Given the description of an element on the screen output the (x, y) to click on. 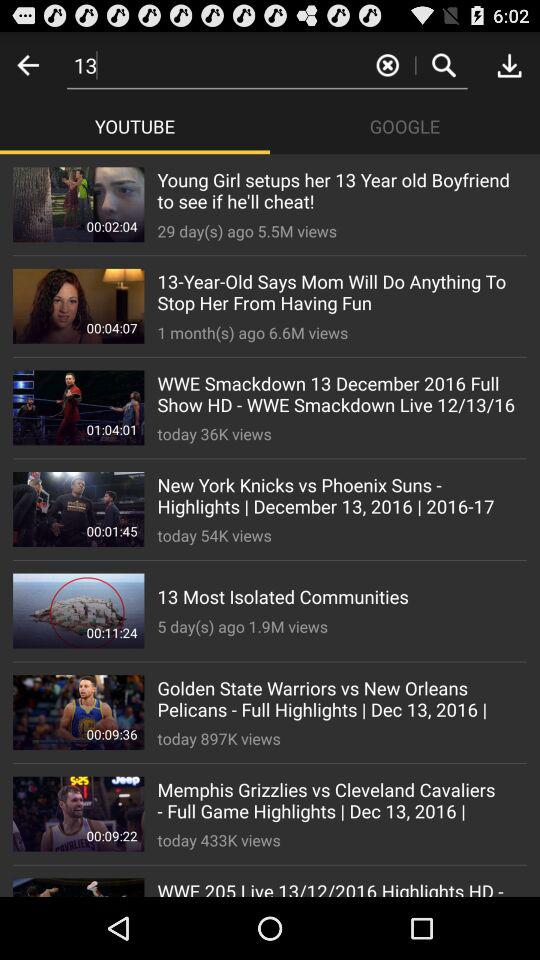
download to device (509, 64)
